Given the description of an element on the screen output the (x, y) to click on. 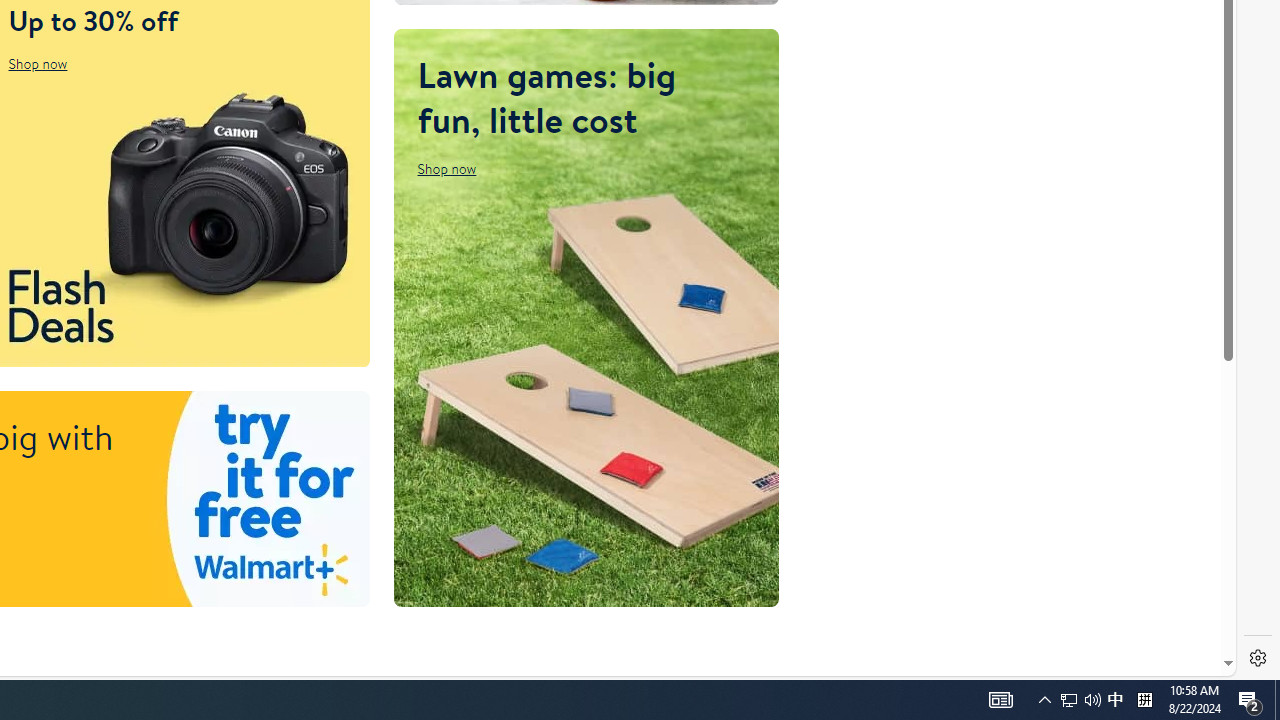
Shop now Up to 30% off (37, 63)
Shop now Lawn games: big fun, little cost (447, 168)
